Given the description of an element on the screen output the (x, y) to click on. 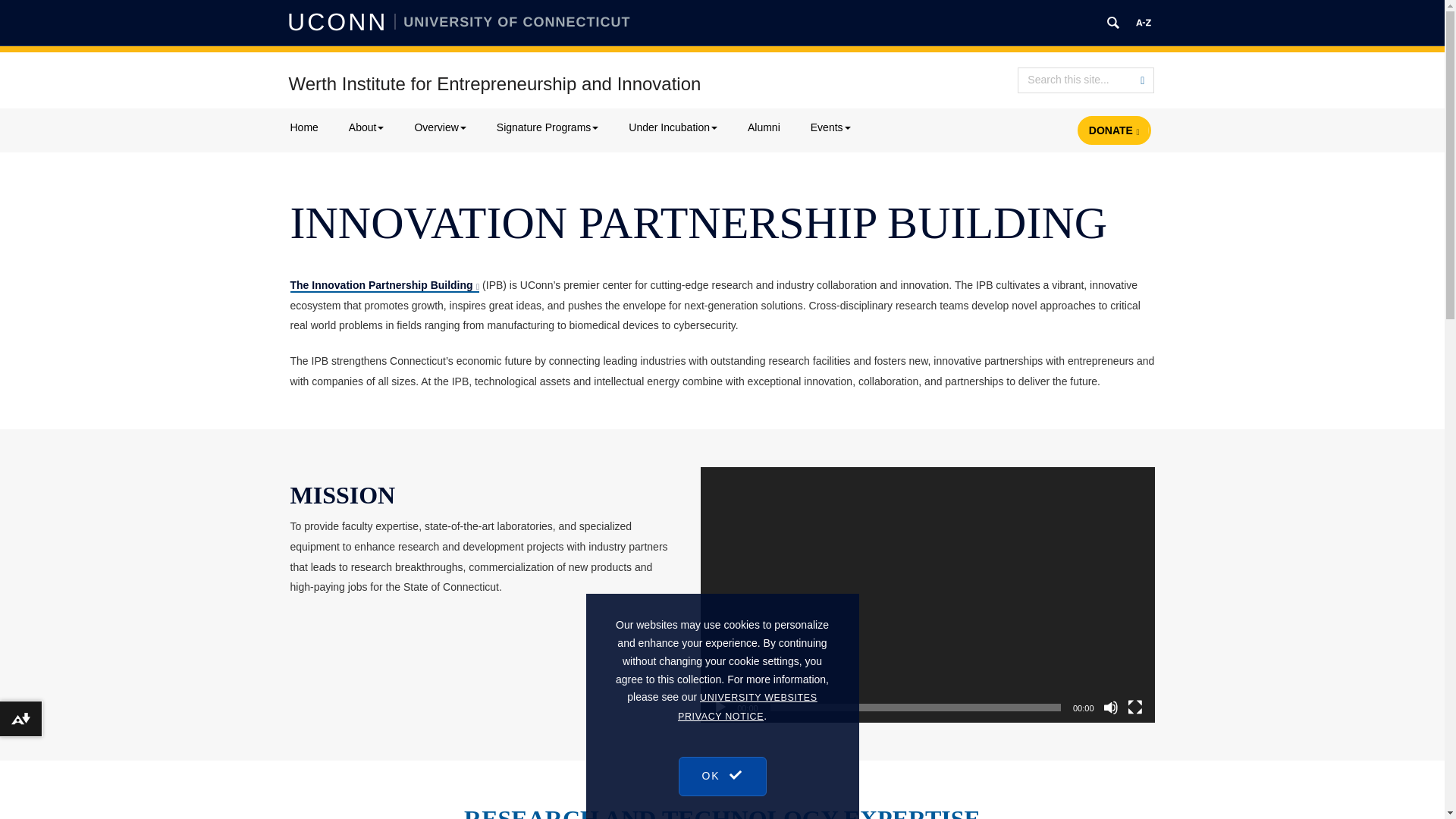
Overview (439, 127)
Under Incubation (672, 127)
Play (720, 707)
Fullscreen (1133, 707)
Signature Programs (547, 127)
Search UConn (1112, 22)
Mute (1110, 707)
Events (830, 127)
UConn A to Z Index (1143, 22)
